Given the description of an element on the screen output the (x, y) to click on. 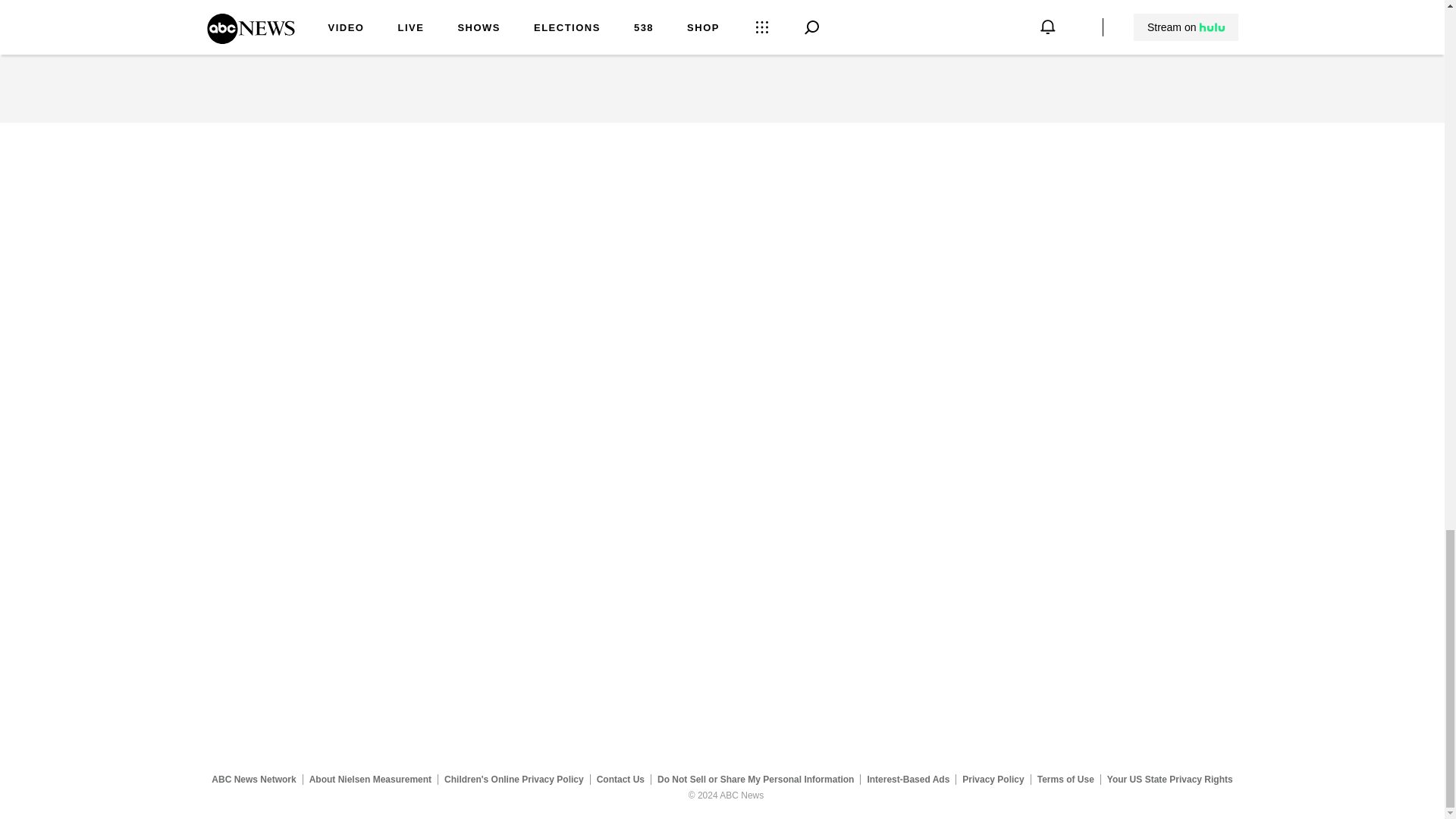
Your US State Privacy Rights (1169, 778)
Do Not Sell or Share My Personal Information (755, 778)
Privacy Policy (993, 778)
ABC News Network (253, 778)
Terms of Use (1065, 778)
Interest-Based Ads (908, 778)
Children's Online Privacy Policy (514, 778)
Contact Us (620, 778)
About Nielsen Measurement (370, 778)
